Given the description of an element on the screen output the (x, y) to click on. 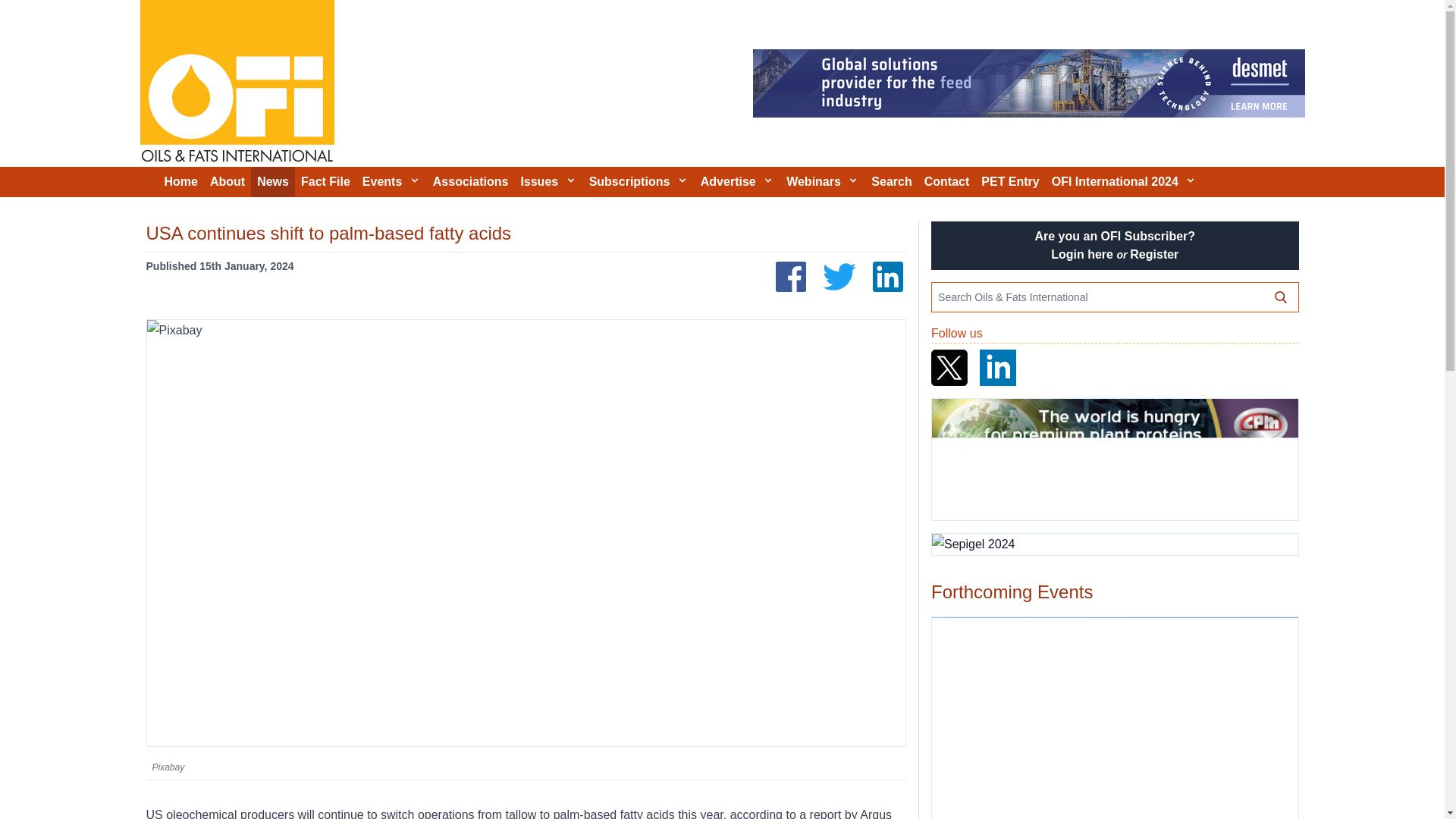
Fact File (325, 182)
Crown AUG 24 - Plant proteins - feed it (1114, 459)
Share on LinkedIn (887, 276)
Subscriptions (638, 182)
Contact (946, 182)
OFI International 2024 (1124, 182)
Advertise (737, 182)
About (226, 182)
Events (391, 182)
Issues (547, 182)
Search (890, 182)
News (272, 182)
Associations (470, 182)
Home (180, 182)
PET Entry (1010, 182)
